Given the description of an element on the screen output the (x, y) to click on. 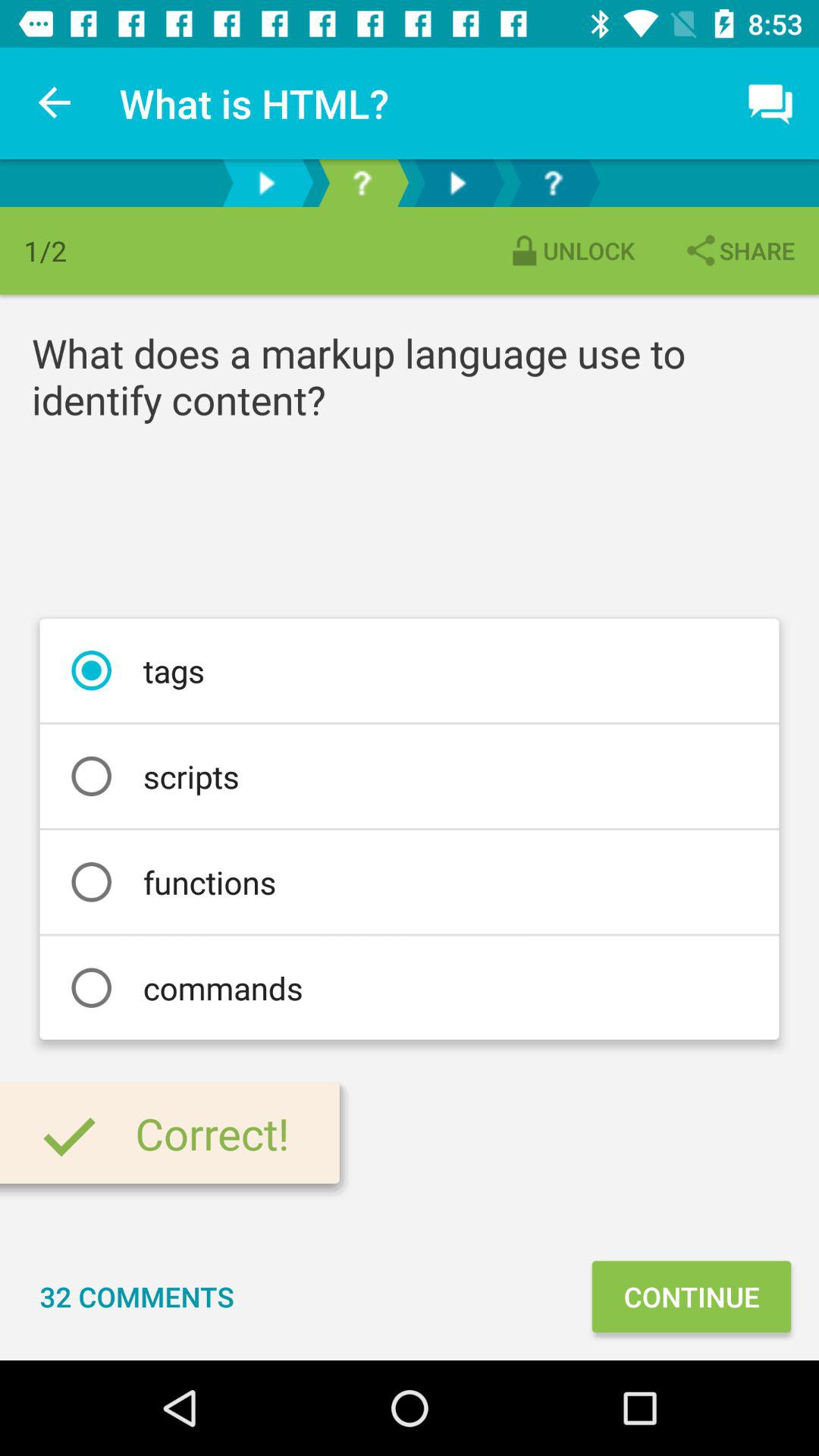
choose share (738, 250)
